Given the description of an element on the screen output the (x, y) to click on. 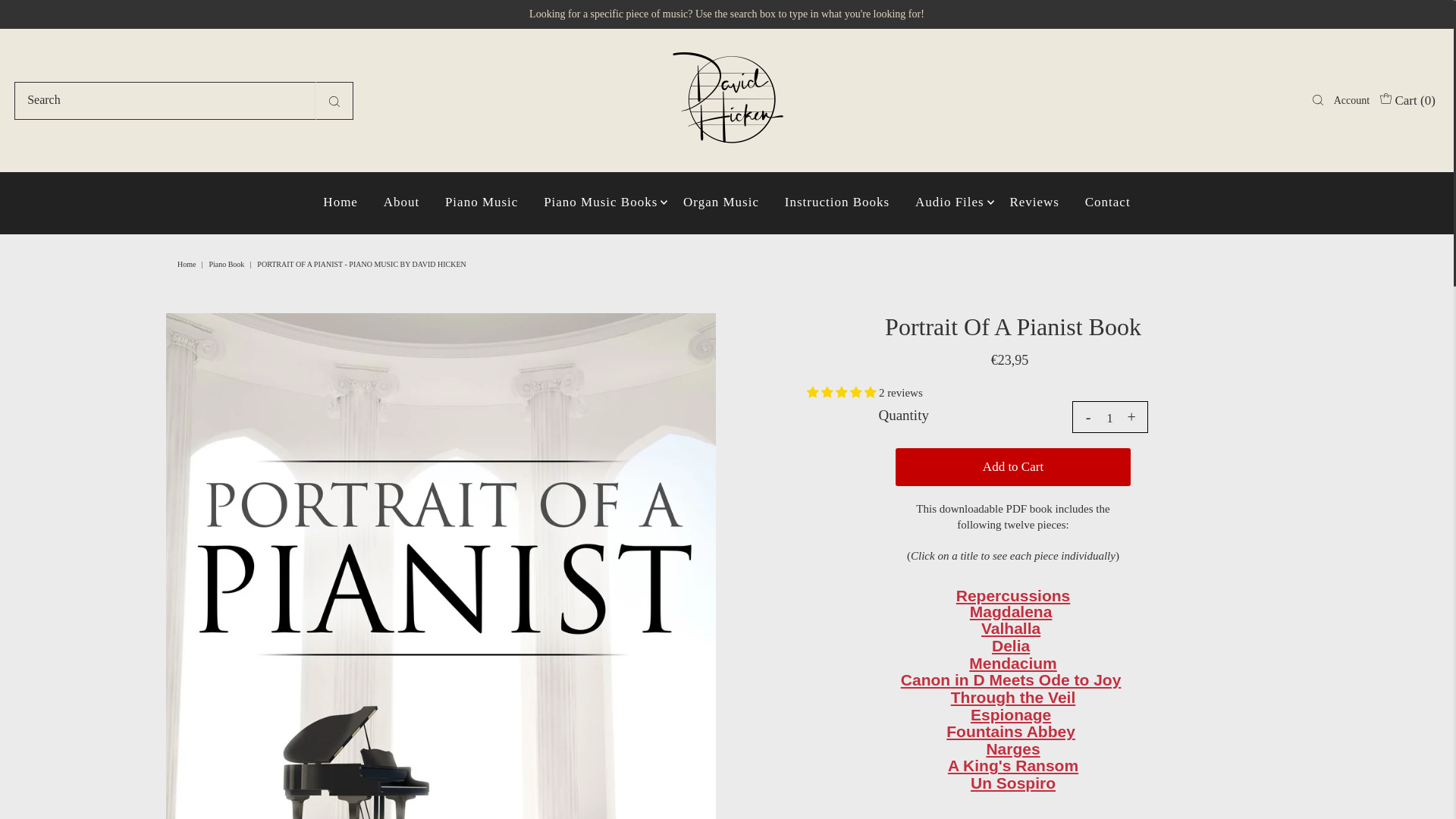
Un Sospiro Piano Sheet Music (1013, 782)
Piano Music Books (600, 201)
Espionage Piano Sheet Music (1011, 714)
A King's Ransom Piano Sheet Music (1012, 764)
Mendacium Piano Sheet Music (1013, 662)
Repercussions Piano Sheet Music (1013, 596)
Fountains Abbey Piano Sheet Music (1010, 731)
Piano Book (227, 264)
Through The Veil Piano Sheet Music (1012, 696)
Magdalena Piano Sheet Music (1010, 610)
Narges Piano Sheet Music (1012, 748)
Account (1351, 100)
Valhalla Piano Sheet Music (1011, 628)
Home (340, 201)
Home (188, 264)
